Given the description of an element on the screen output the (x, y) to click on. 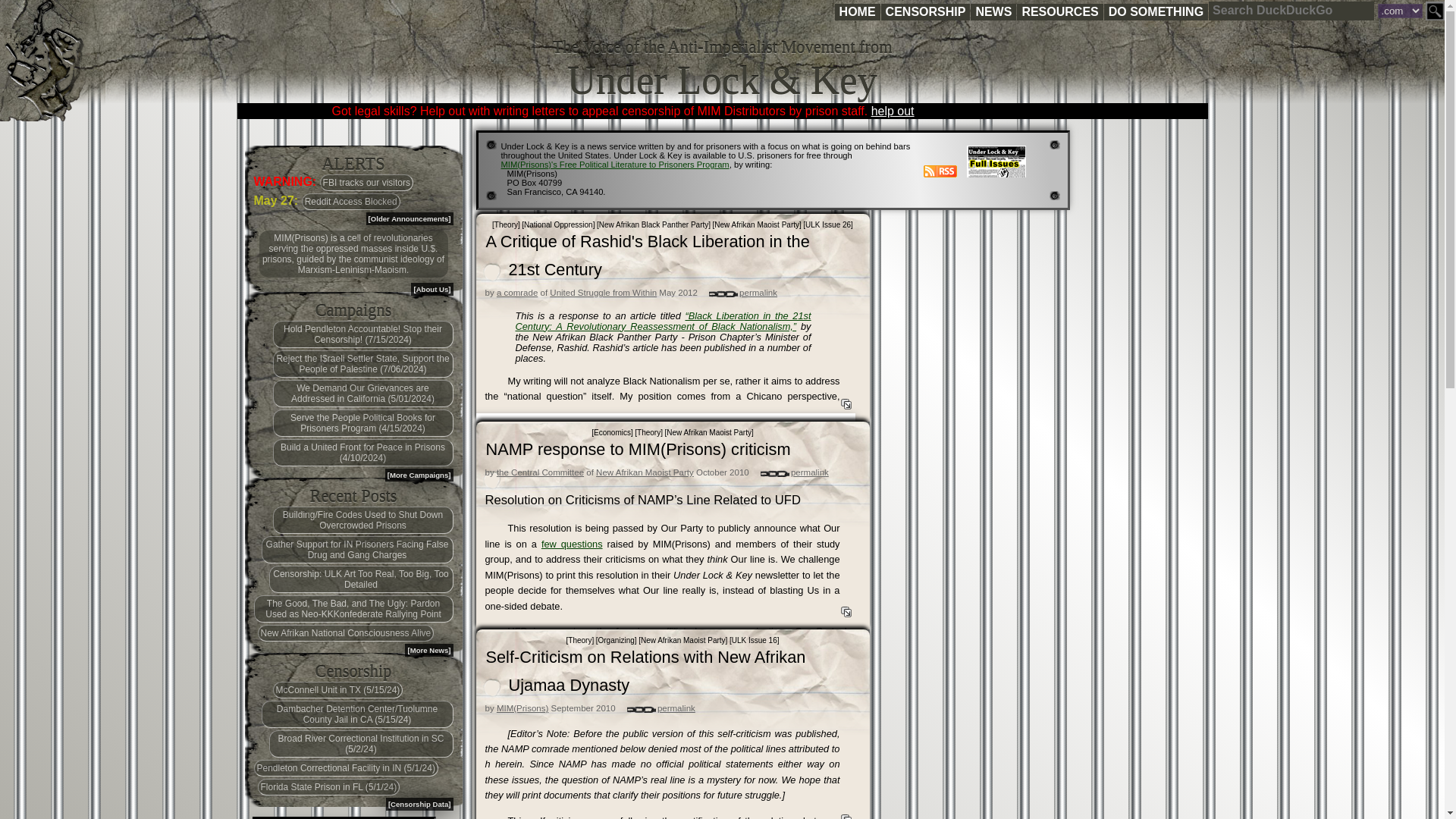
CENSORSHIP (925, 12)
New Afrikan National Consciousness Alive (345, 632)
Censorship: ULK Art Too Real, Too Big, Too Detailed (359, 578)
RESOURCES (1059, 12)
NEWS (993, 12)
DO SOMETHING (1155, 12)
HOME (857, 12)
Reddit Access Blocked (350, 201)
FBI tracks our visitors (366, 182)
help out (892, 110)
